Given the description of an element on the screen output the (x, y) to click on. 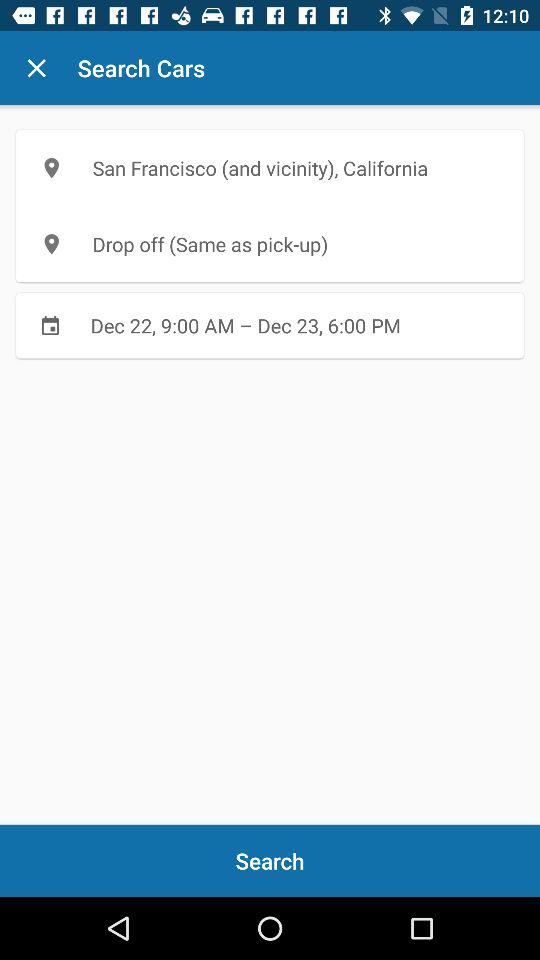
scroll until the drop off same item (269, 244)
